Given the description of an element on the screen output the (x, y) to click on. 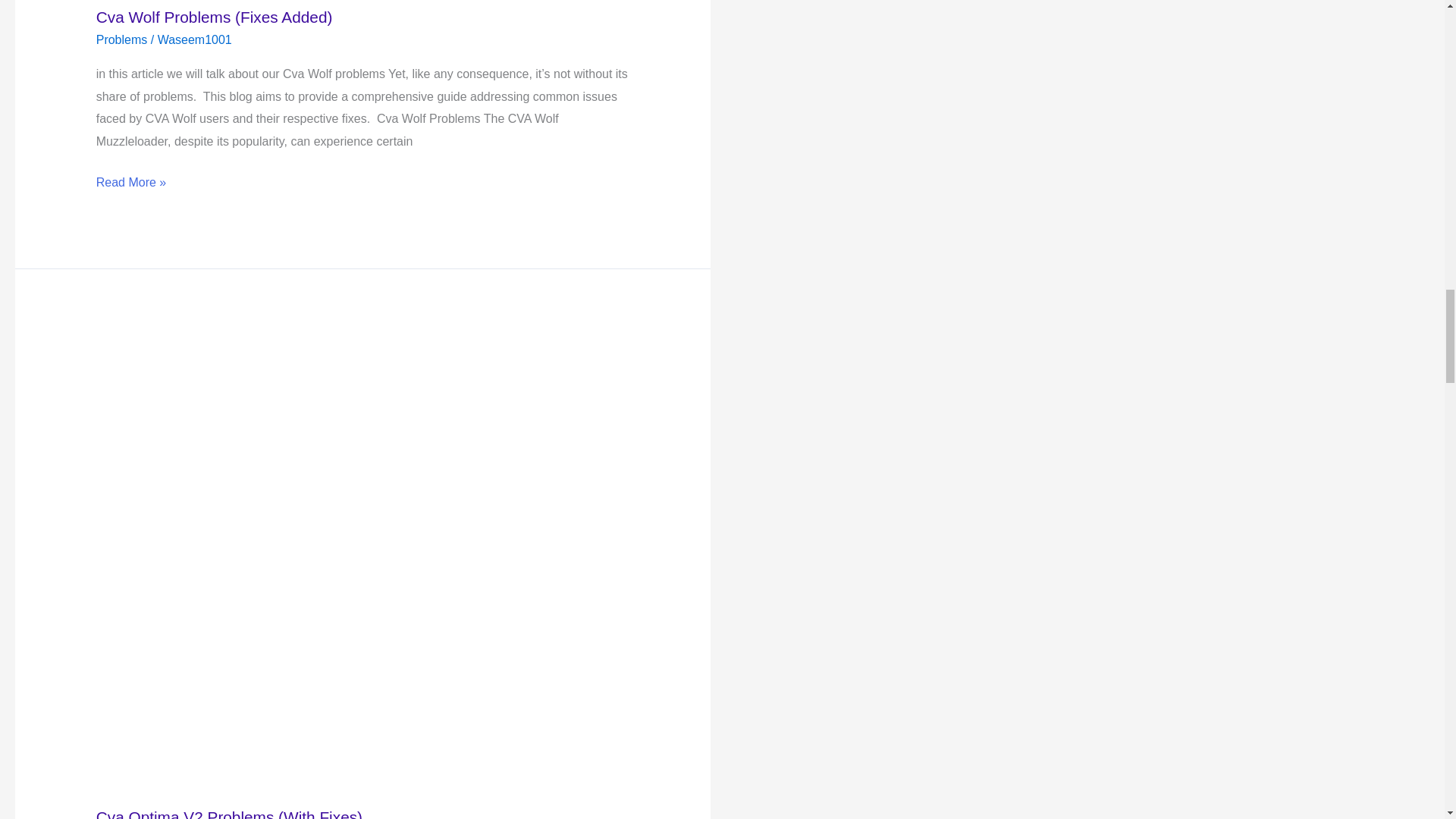
Problems (122, 39)
View all posts by Waseem1001 (194, 39)
